Given the description of an element on the screen output the (x, y) to click on. 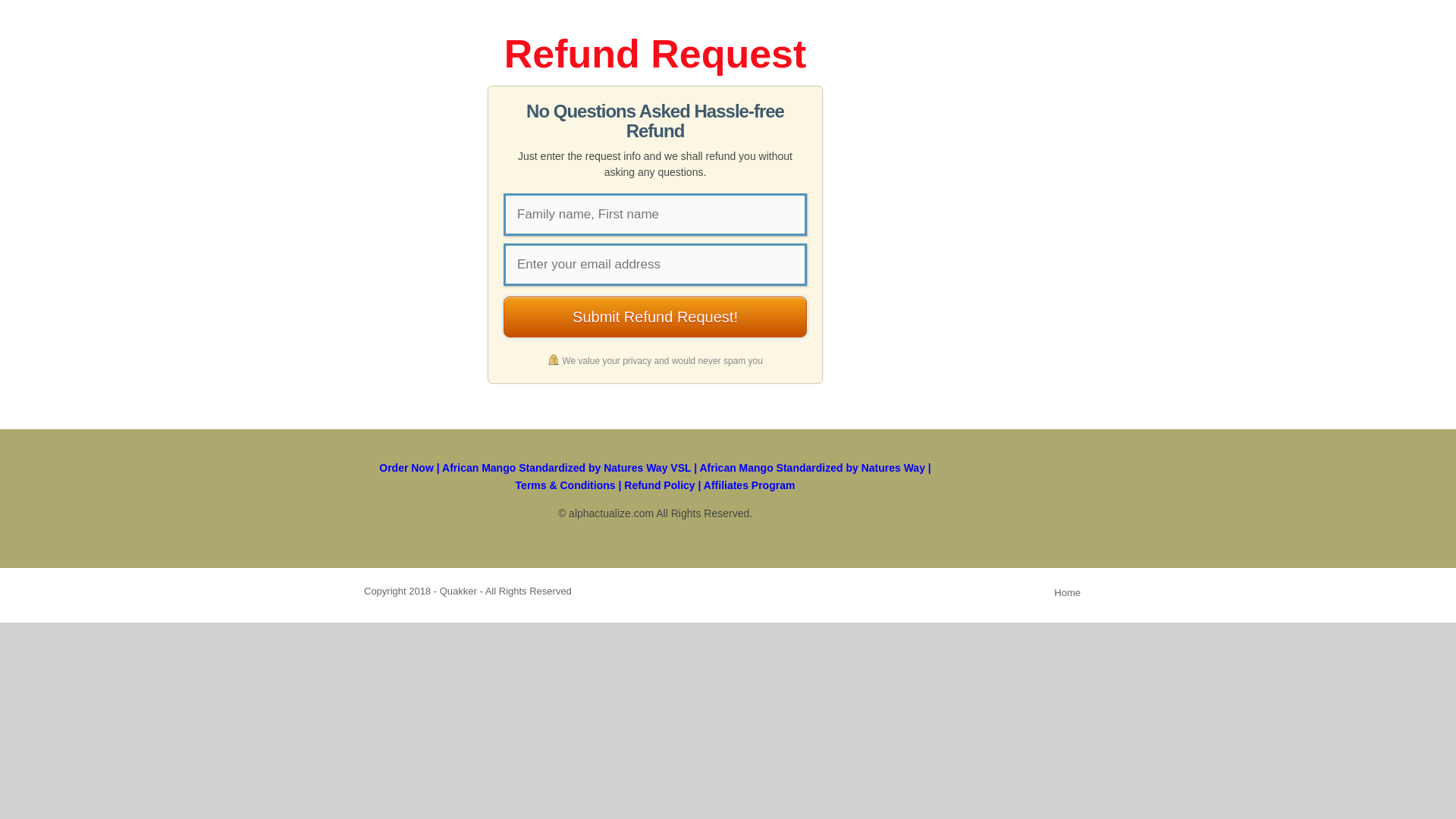
Refund Policy (659, 485)
Affiliates Program (748, 485)
Order Now (405, 467)
Home (1067, 592)
African Mango Standardized by Natures Way (811, 467)
African Mango Standardized by Natures Way VSL (566, 467)
Submit Refund Request! (654, 316)
